Given the description of an element on the screen output the (x, y) to click on. 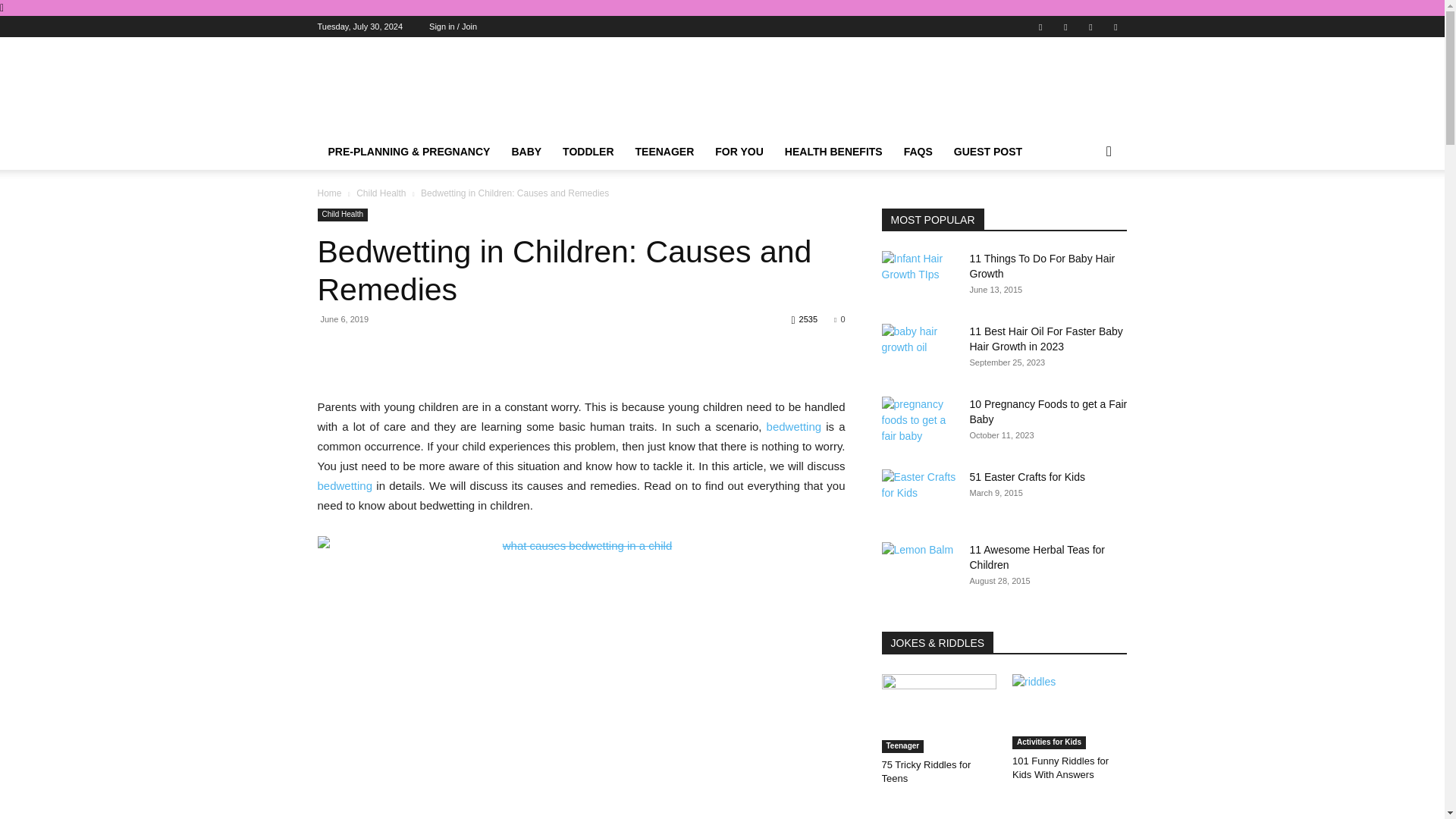
Home (328, 193)
Facebook (1040, 25)
Search (1085, 211)
TODDLER (587, 151)
Child Health (381, 193)
Pinterest (1065, 25)
Twitter (1090, 25)
GUEST POST (987, 151)
HEALTH BENEFITS (833, 151)
Child Health (341, 214)
TEENAGER (664, 151)
Youtube (1114, 25)
View all posts in Child Health (381, 193)
FOR YOU (739, 151)
